Given the description of an element on the screen output the (x, y) to click on. 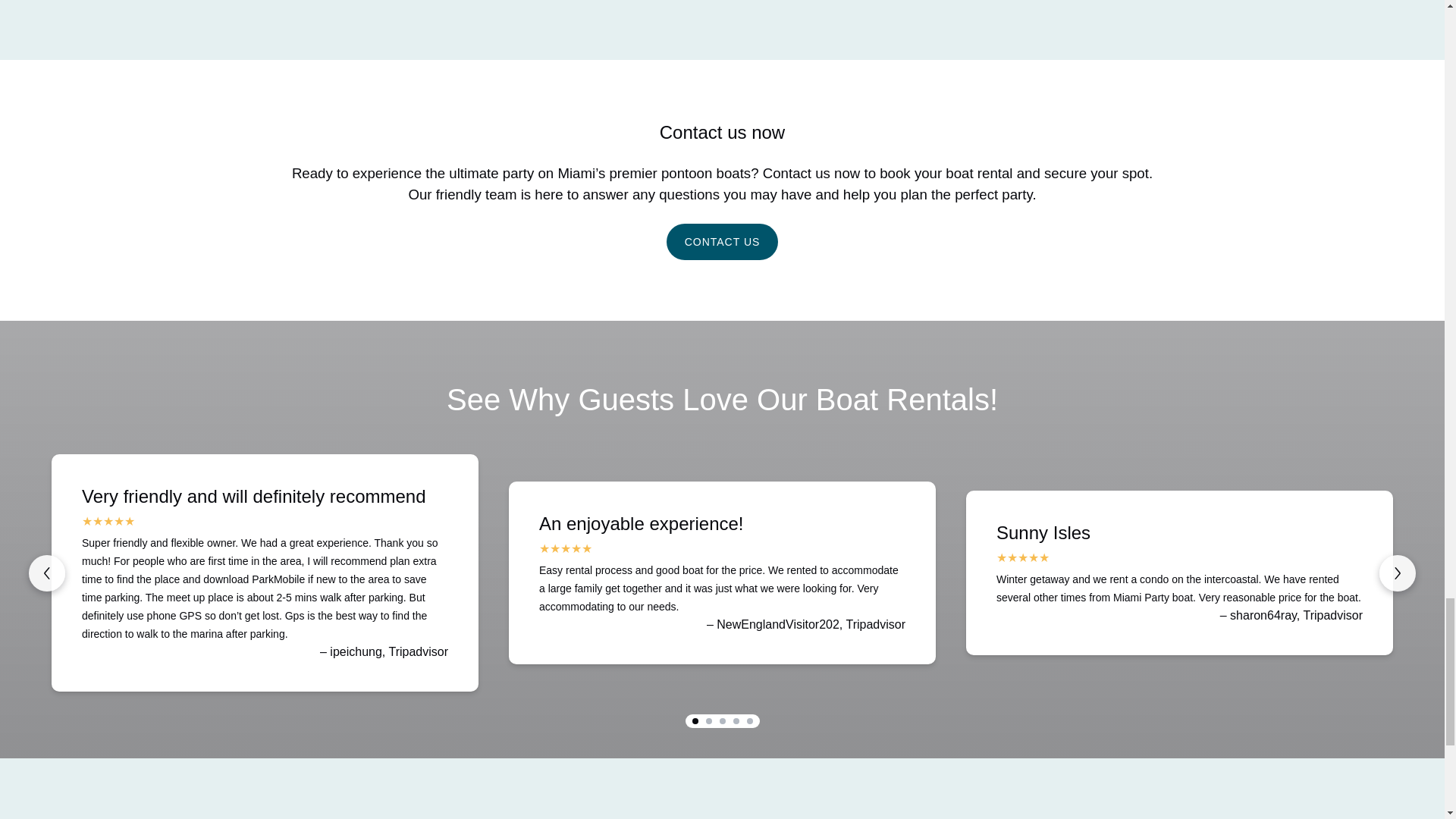
1 (694, 720)
2 (707, 720)
5 (748, 720)
4 (735, 720)
Next (1396, 573)
Previous (47, 573)
3 (722, 720)
CONTACT US (722, 232)
